Given the description of an element on the screen output the (x, y) to click on. 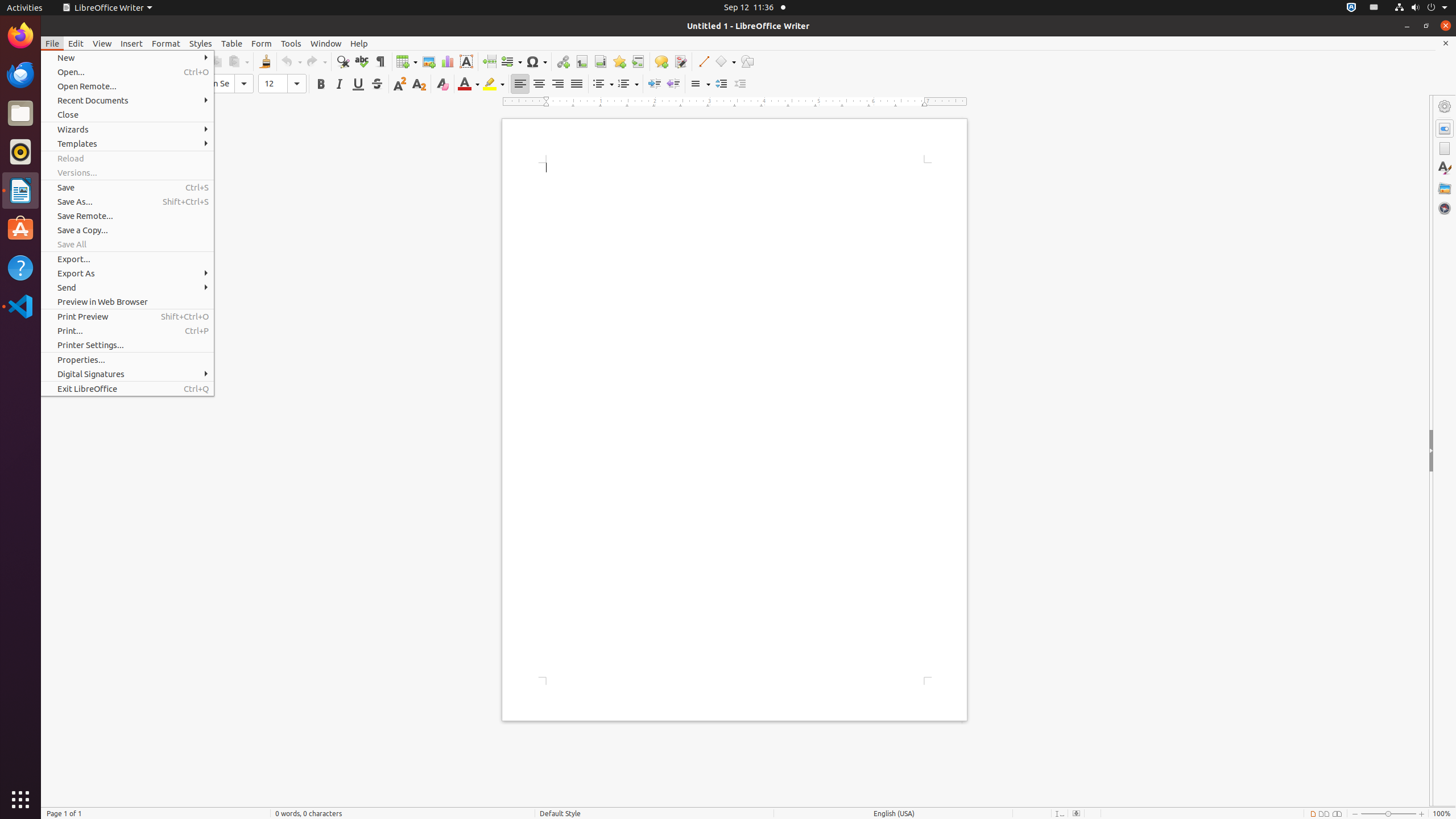
Edit Element type: menu (75, 43)
Formatting Marks Element type: toggle-button (379, 61)
Numbering Element type: push-button (627, 83)
Superscript Element type: toggle-button (399, 83)
Endnote Element type: push-button (599, 61)
